Given the description of an element on the screen output the (x, y) to click on. 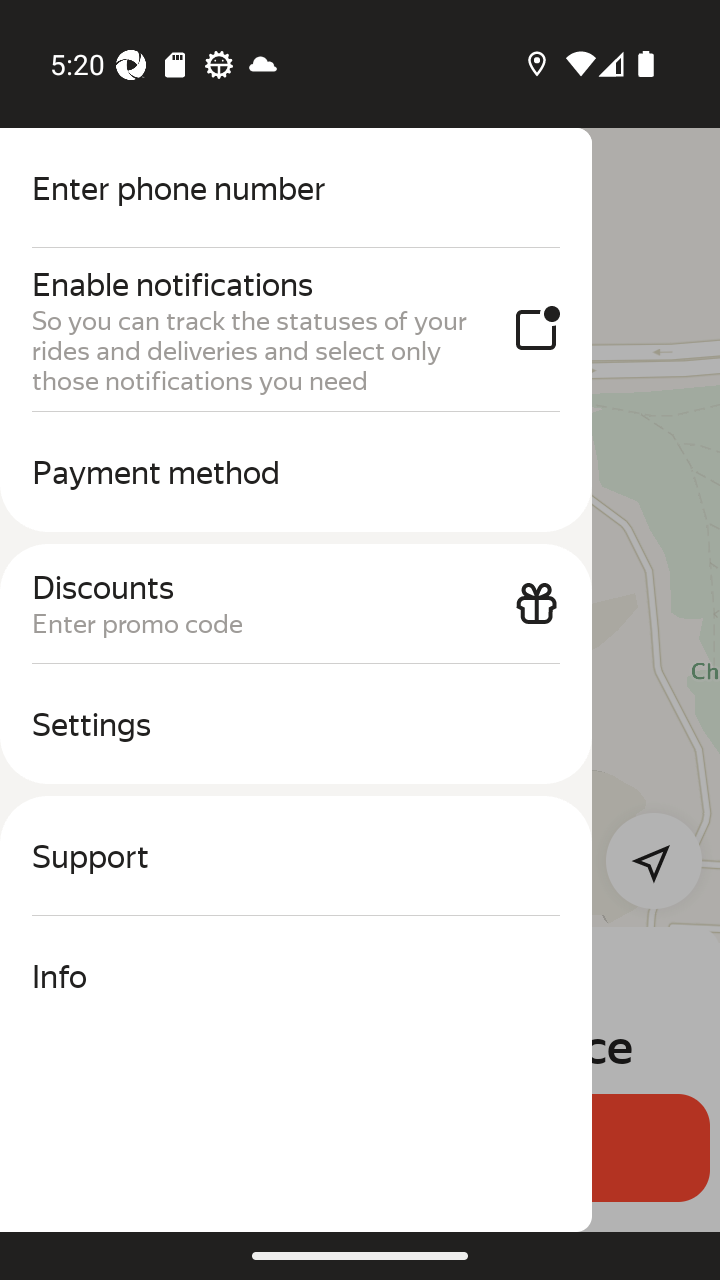
Enter phone number (295, 188)
Payment method (295, 472)
Settings (295, 723)
Support (295, 856)
Info (295, 975)
